Given the description of an element on the screen output the (x, y) to click on. 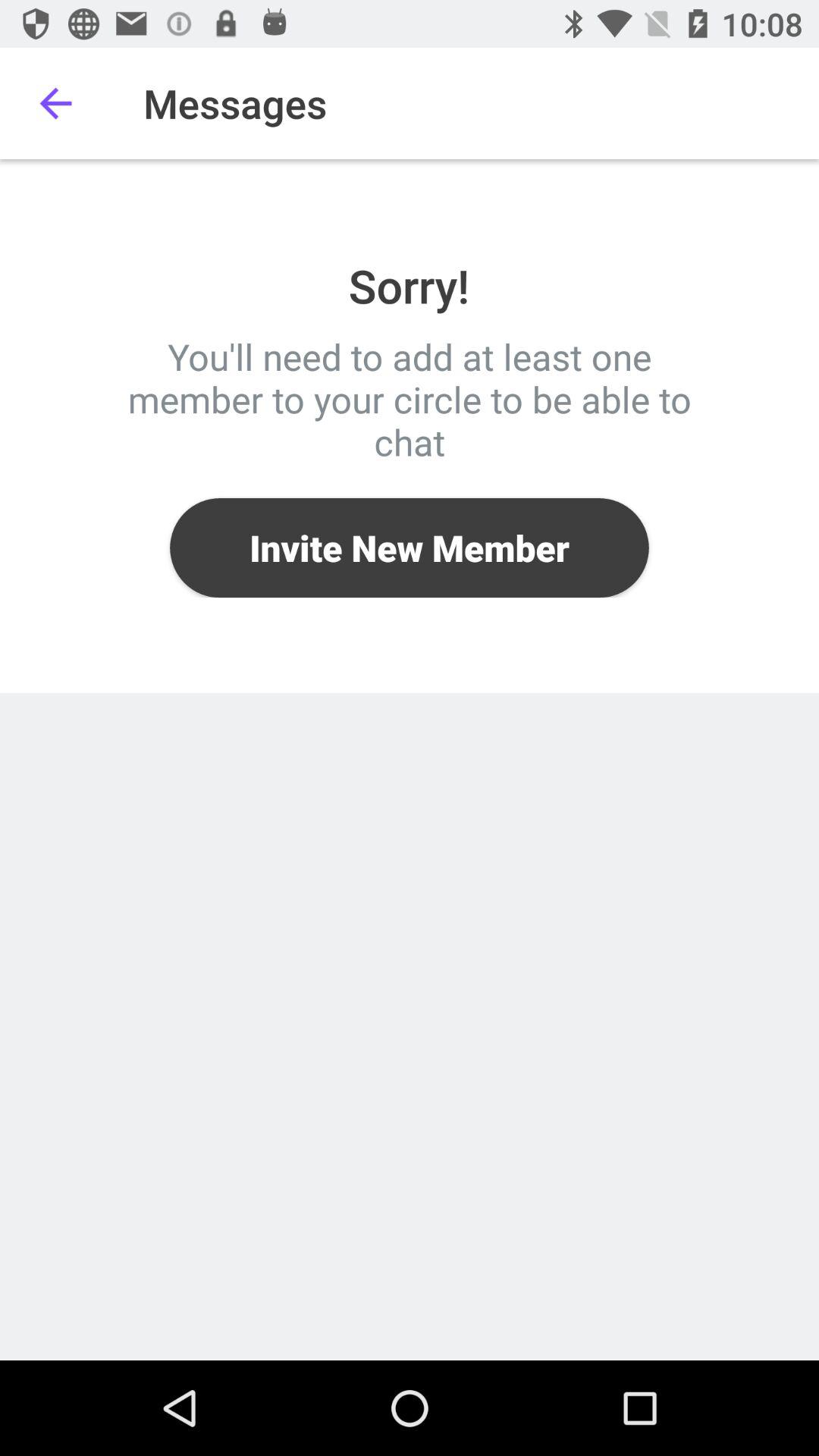
click the invite new member at the center (409, 547)
